Given the description of an element on the screen output the (x, y) to click on. 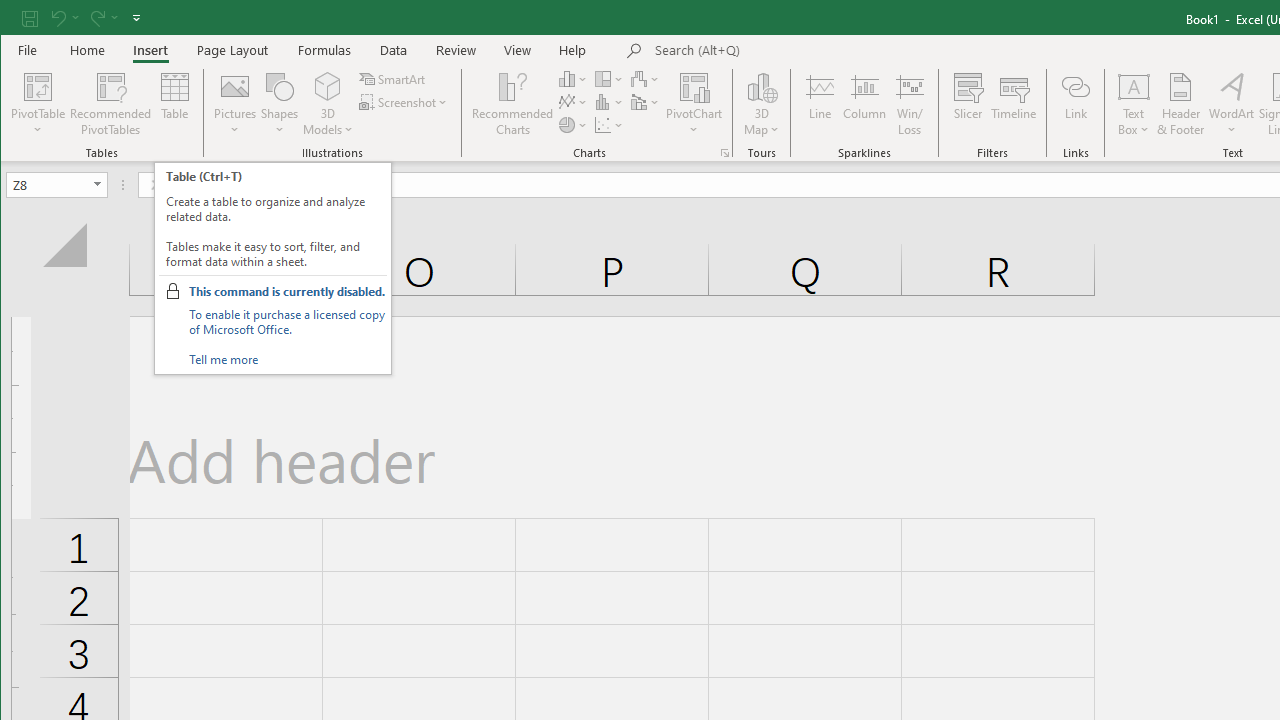
Recommended PivotTables (110, 104)
Class: NetUIImage (172, 290)
Insert Statistic Chart (609, 101)
3D Models (327, 104)
WordArt (1231, 104)
3D Map (762, 86)
Insert Column or Bar Chart (573, 78)
This command is currently disabled. (286, 291)
Insert Combo Chart (646, 101)
